Given the description of an element on the screen output the (x, y) to click on. 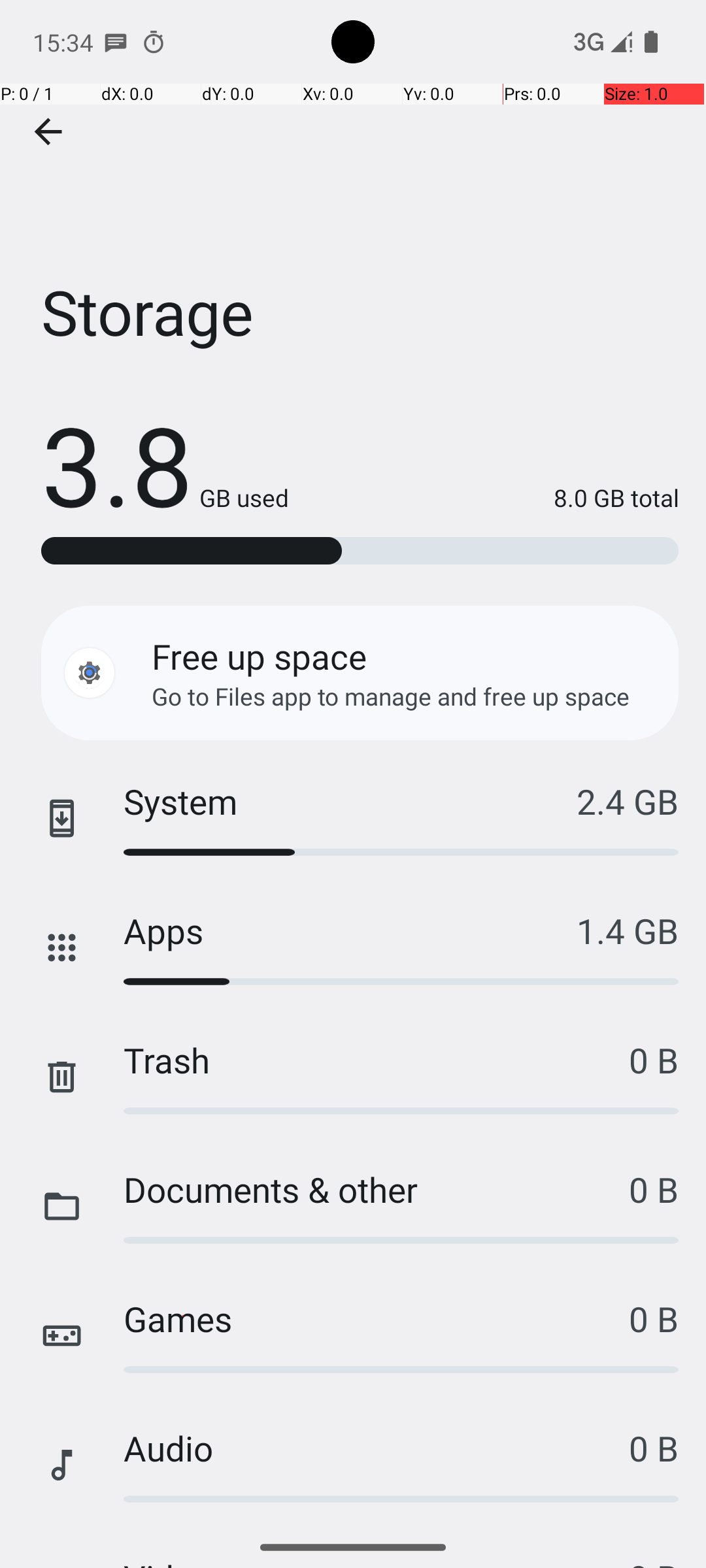
2.4 GB Element type: android.widget.TextView (627, 801)
